Given the description of an element on the screen output the (x, y) to click on. 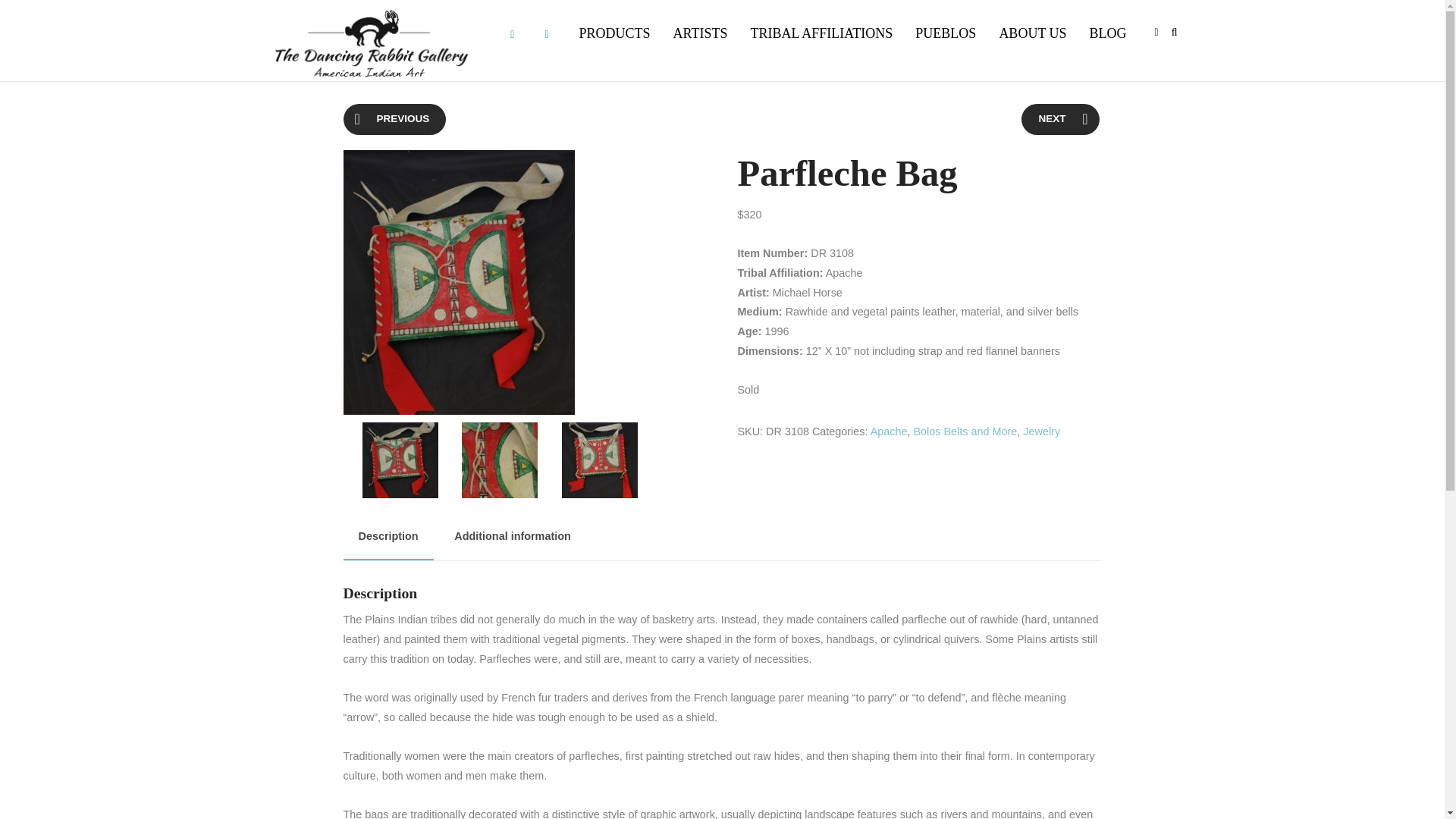
PRODUCTS (614, 33)
